Given the description of an element on the screen output the (x, y) to click on. 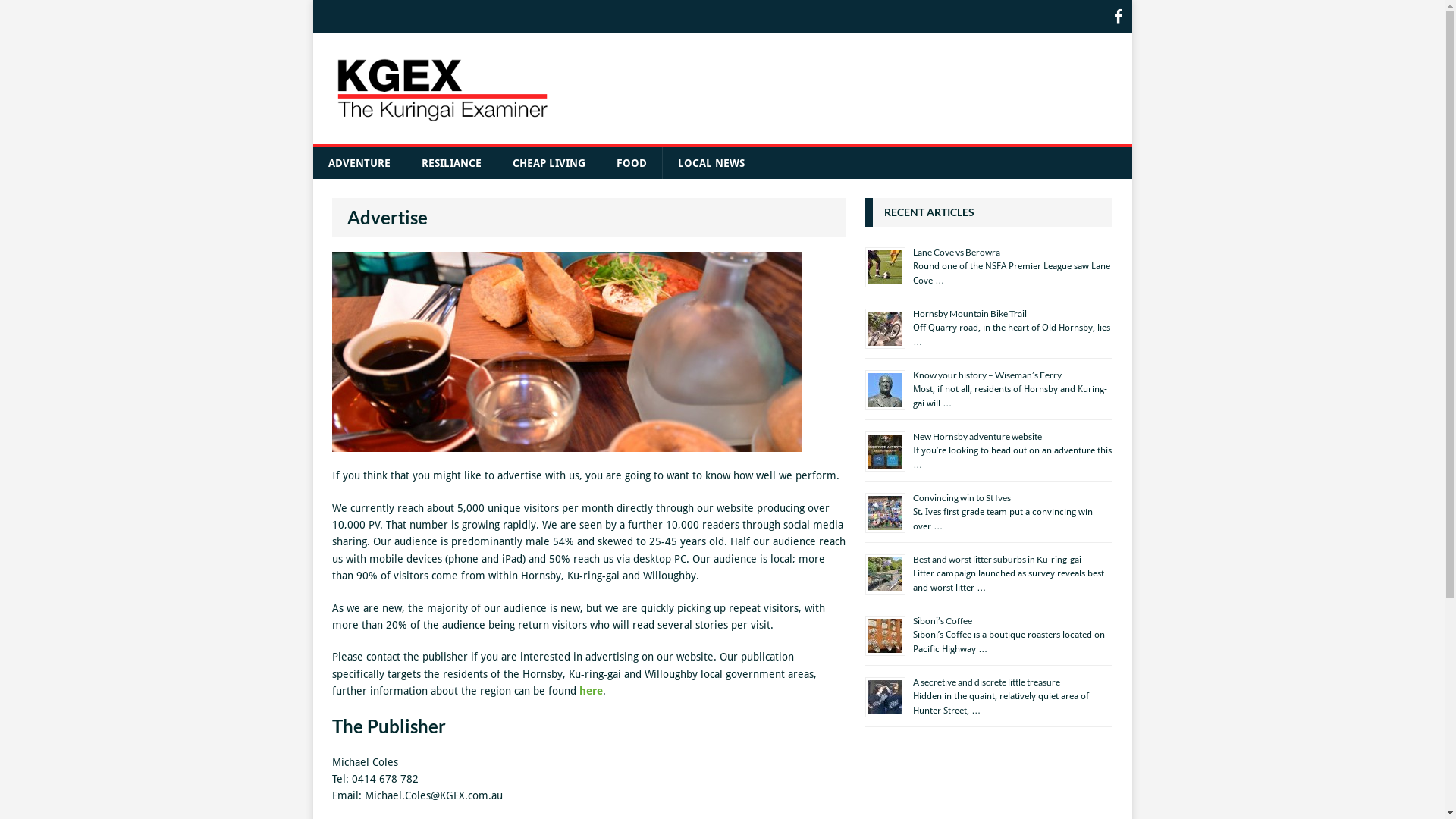
The Kuringai Examiner Element type: hover (441, 88)
ADVENTURE Element type: text (358, 162)
FOOD Element type: text (631, 162)
Hornsby Mountain Bike Trail Element type: text (969, 313)
CHEAP LIVING Element type: text (547, 162)
New Hornsby adventure website Element type: text (977, 436)
here Element type: text (590, 690)
LOCAL NEWS Element type: text (710, 162)
Best and worst litter suburbs in Ku-ring-gai Element type: text (997, 558)
Lane Cove vs Berowra Element type: text (956, 251)
Convincing win to St Ives Element type: text (961, 497)
A secretive and discrete little treasure Element type: text (986, 681)
RESILIANCE Element type: text (449, 162)
